Given the description of an element on the screen output the (x, y) to click on. 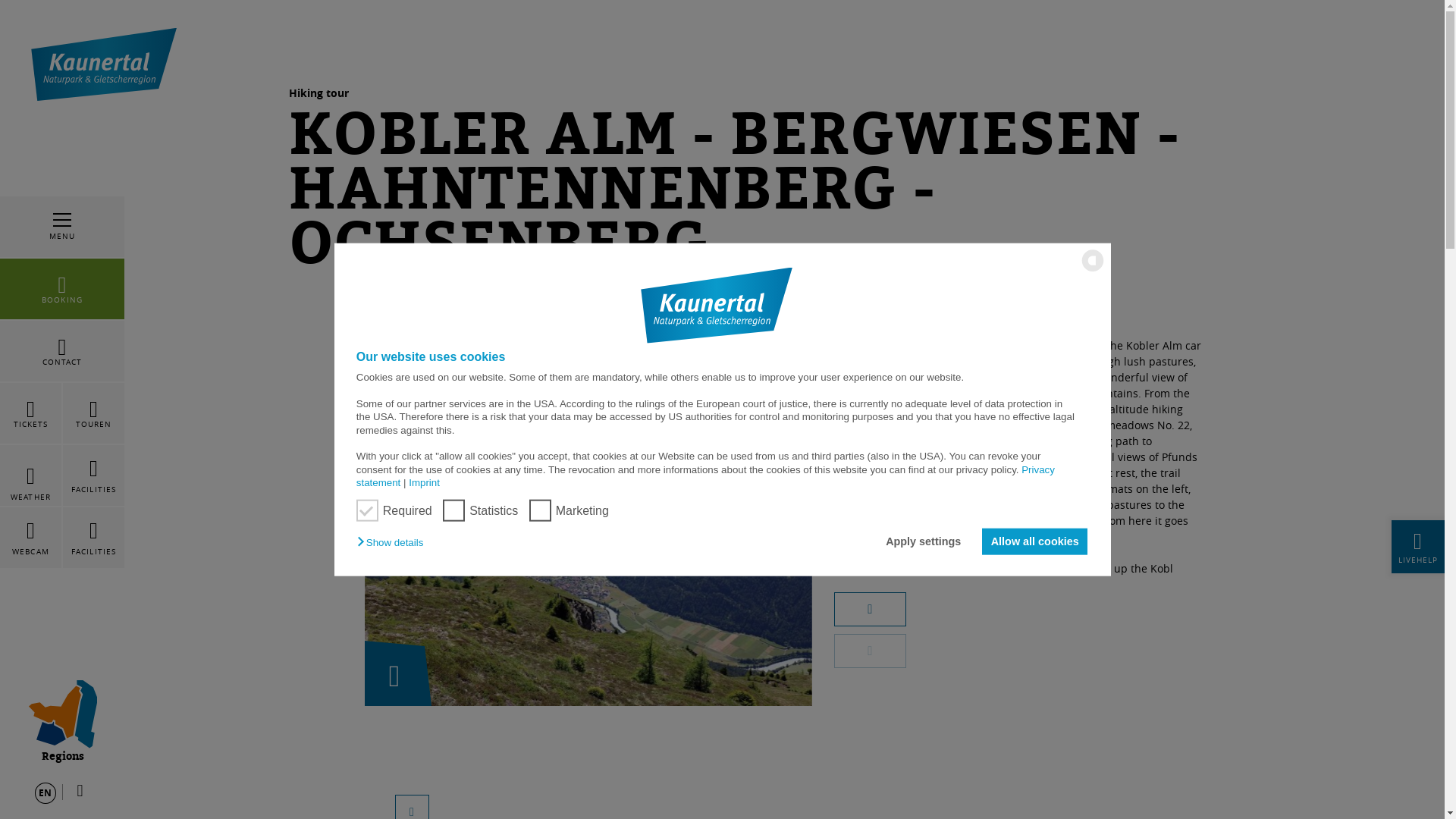
Show details (392, 542)
Allow all cookies (1034, 541)
BOOKING (61, 288)
Privacy statement (704, 475)
Imprint (421, 482)
Privacy statement (704, 475)
MENU (61, 226)
Imprint (421, 482)
Apply settings (927, 541)
EN (45, 792)
